Given the description of an element on the screen output the (x, y) to click on. 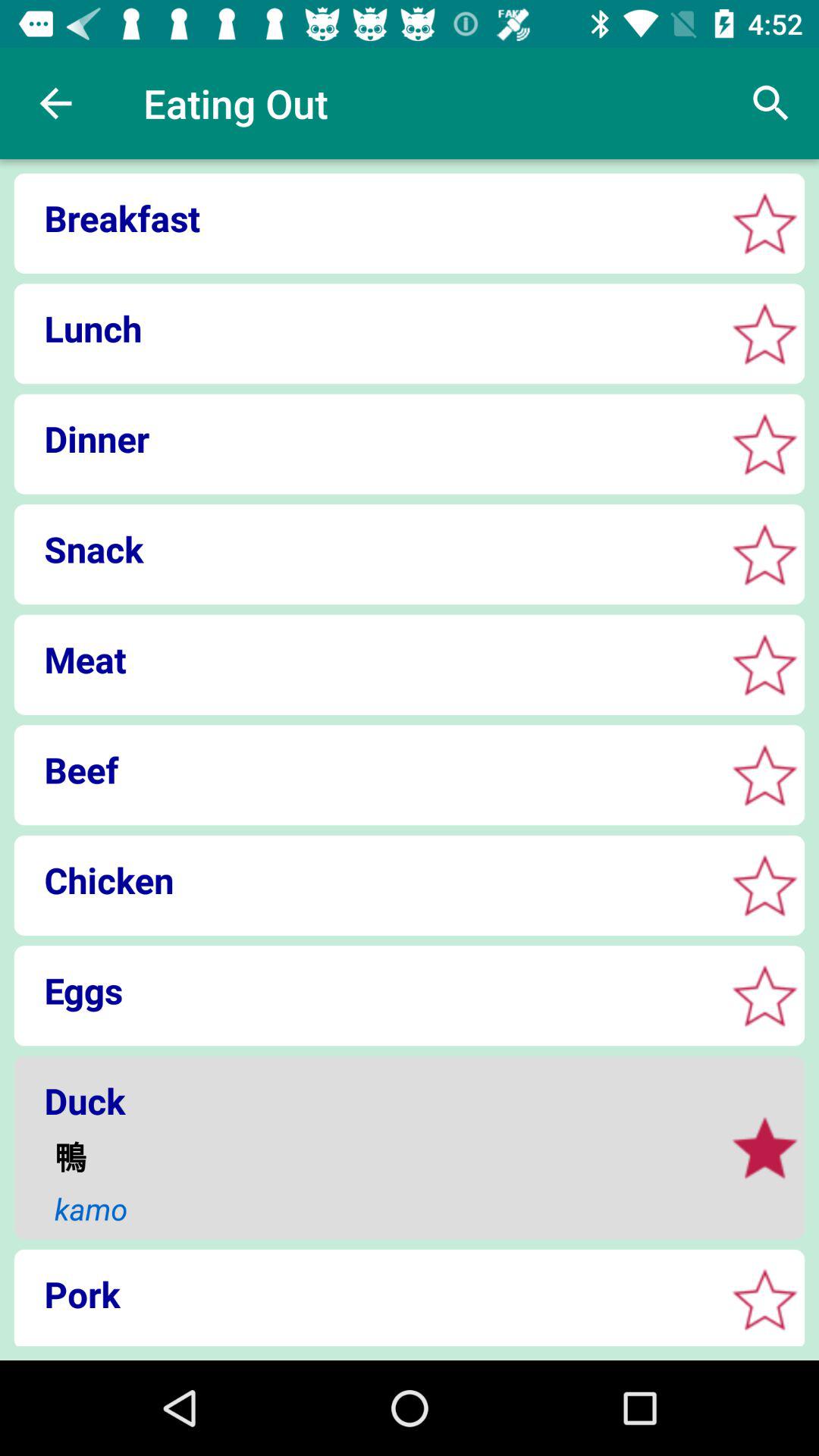
favoriting option (764, 333)
